Given the description of an element on the screen output the (x, y) to click on. 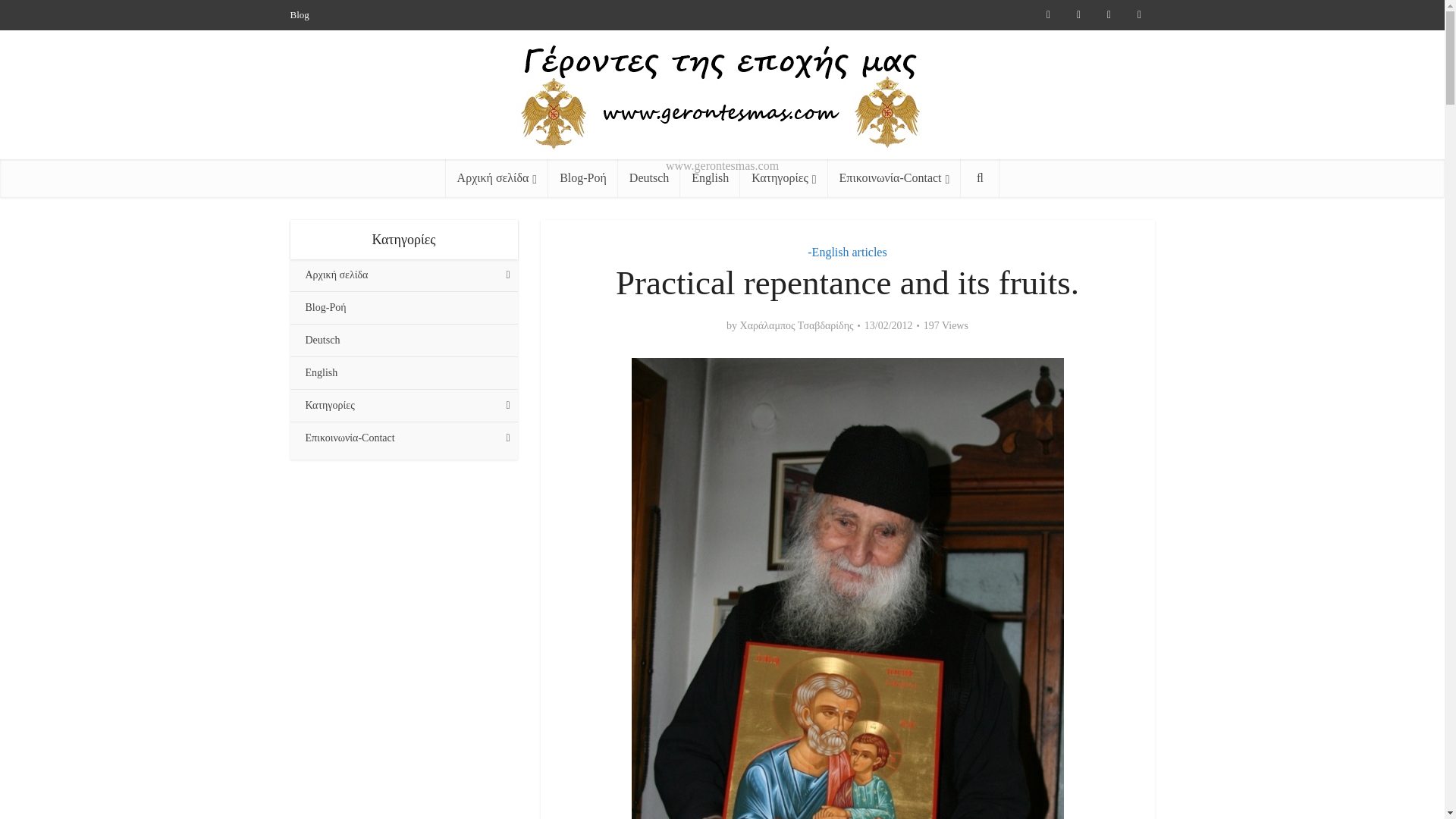
Deutsch (648, 177)
Blog (298, 14)
English (709, 177)
